Given the description of an element on the screen output the (x, y) to click on. 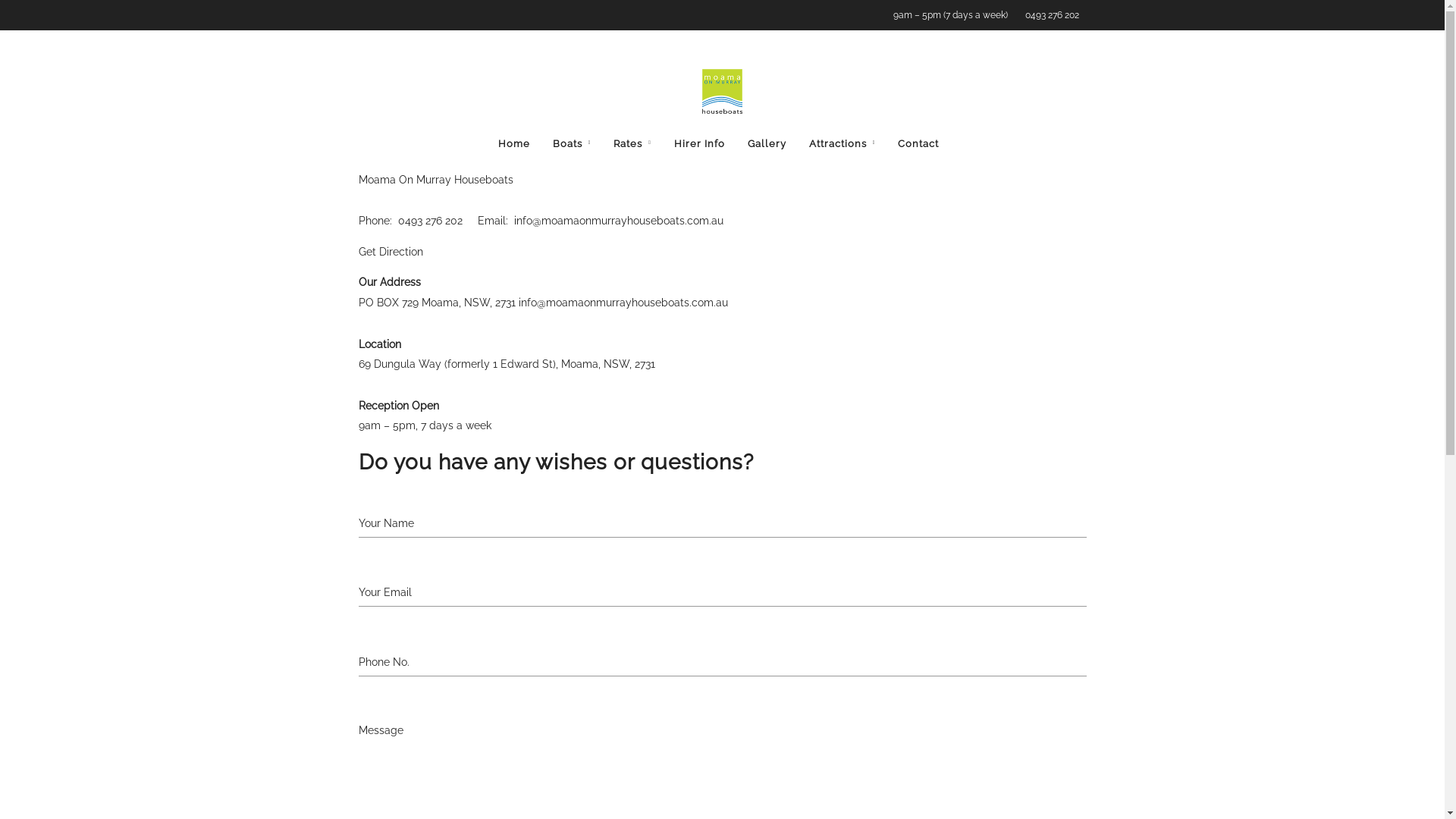
Get Direction Element type: text (389, 251)
info@moamaonmurrayhouseboats.com.au Element type: text (623, 302)
Attractions Element type: text (842, 143)
0493 276 202 Element type: text (1048, 14)
Contact Element type: text (917, 143)
Hirer Info Element type: text (699, 143)
Rates Element type: text (632, 143)
Home Element type: text (514, 143)
Gallery Element type: text (766, 143)
Boats Element type: text (571, 143)
